Given the description of an element on the screen output the (x, y) to click on. 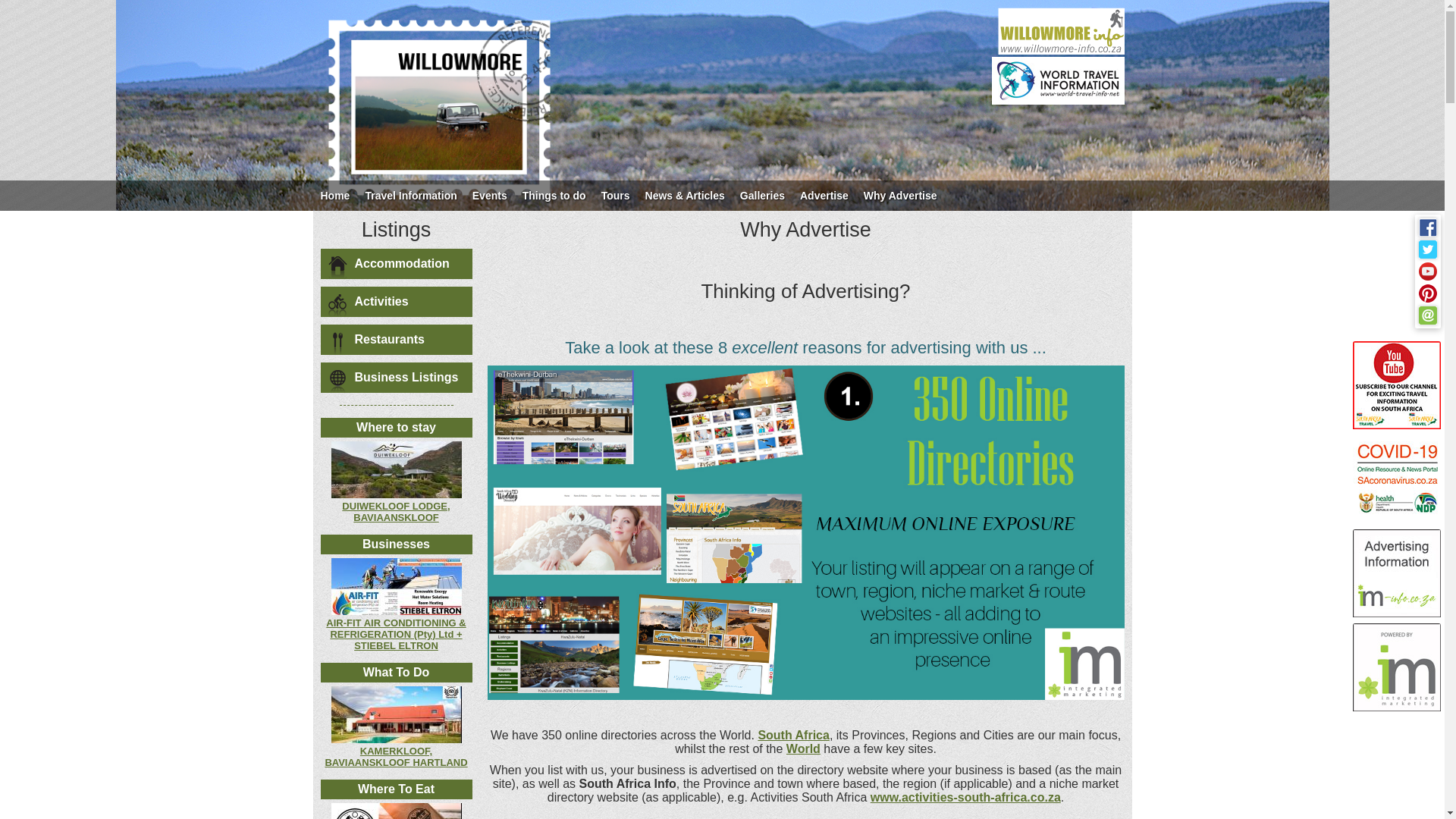
DUIWEKLOOF LODGE, BAVIAANSKLOOF (395, 511)
Advertise (824, 195)
Tours (615, 195)
Find us on Facebook (1427, 227)
Things to do (554, 195)
Pinterest (1427, 293)
Email (1427, 315)
Home (334, 195)
Events (489, 195)
Galleries (762, 195)
Business Listings (395, 377)
Twitter (1427, 249)
Restaurants (395, 339)
Why Advertise (900, 195)
YouTube (1427, 271)
